Given the description of an element on the screen output the (x, y) to click on. 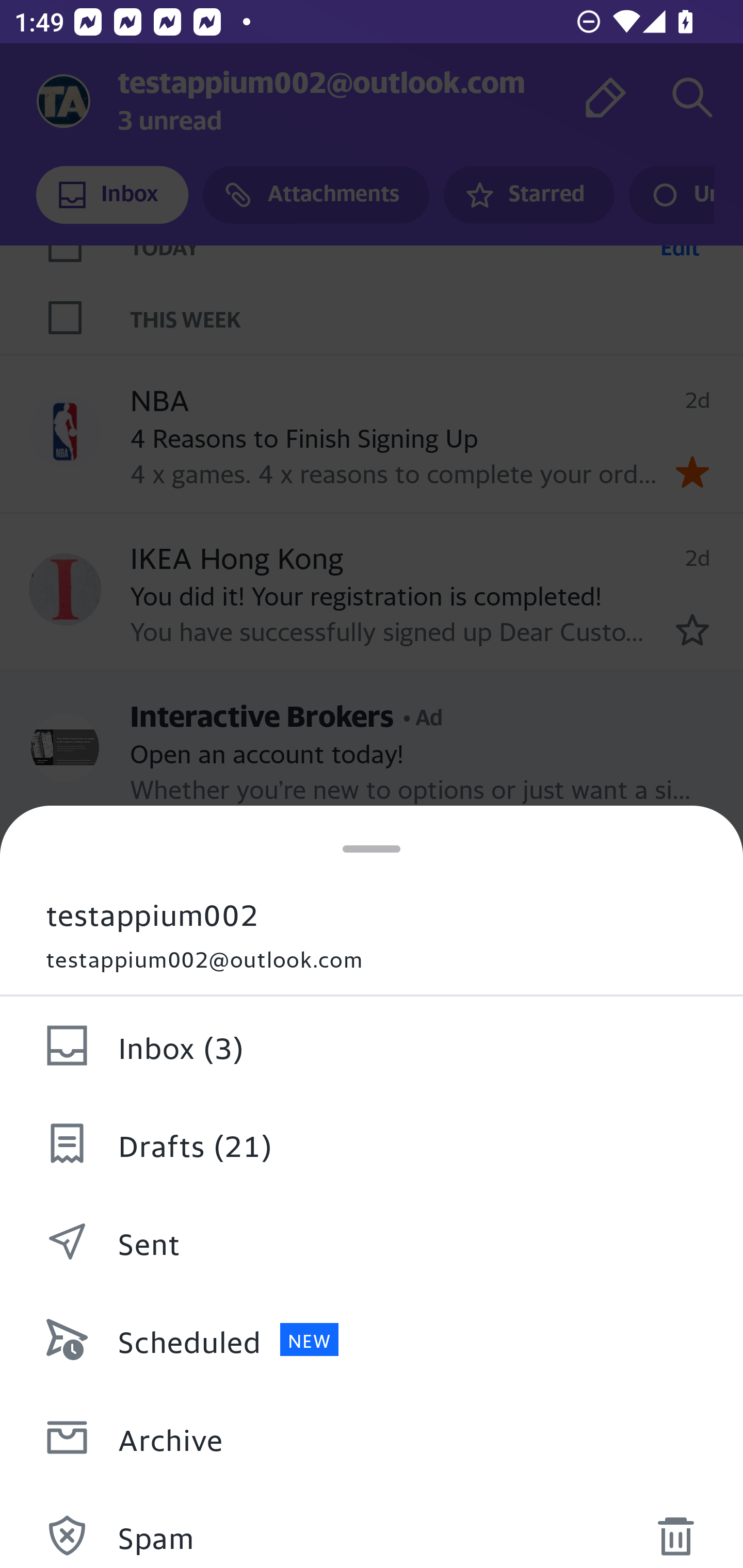
Inbox (3) (371, 1045)
Drafts (21) (371, 1143)
Sent (371, 1241)
Scheduled NEW (371, 1339)
Archive (371, 1437)
Spam Delete spam (371, 1527)
Delete spam (675, 1530)
